Given the description of an element on the screen output the (x, y) to click on. 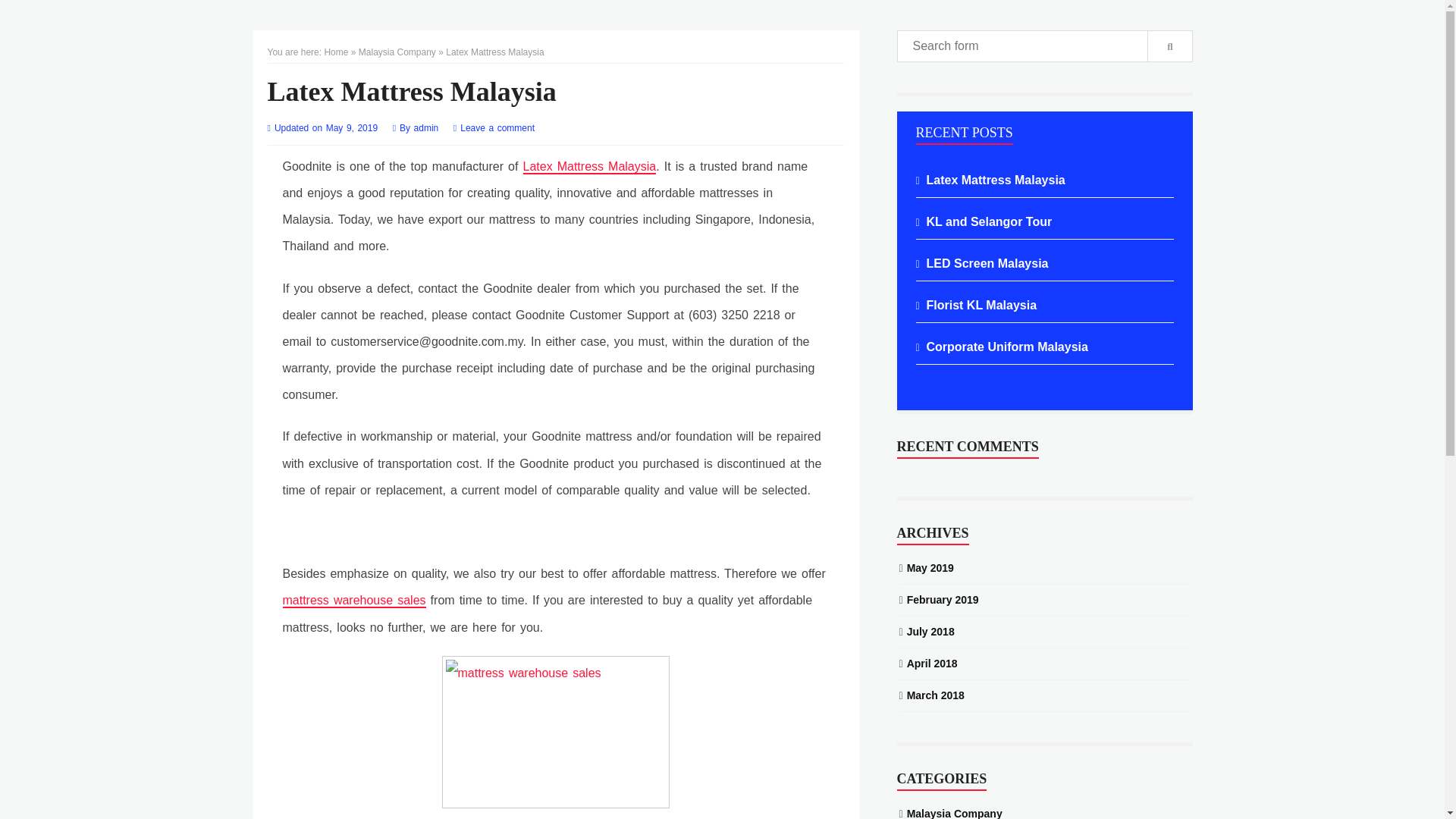
Leave a comment (497, 127)
Malaysia Company (396, 51)
May 2019 (930, 567)
Home (335, 51)
July 2018 (931, 631)
February 2019 (942, 599)
Florist KL Malaysia (981, 304)
mattress warehouse sales (353, 600)
Corporate Uniform Malaysia (1006, 346)
March 2018 (935, 694)
LED Screen Malaysia (987, 263)
Latex Mattress Malaysia (589, 166)
KL and Selangor Tour (989, 221)
admin (427, 127)
Latex Mattress Malaysia (995, 179)
